Given the description of an element on the screen output the (x, y) to click on. 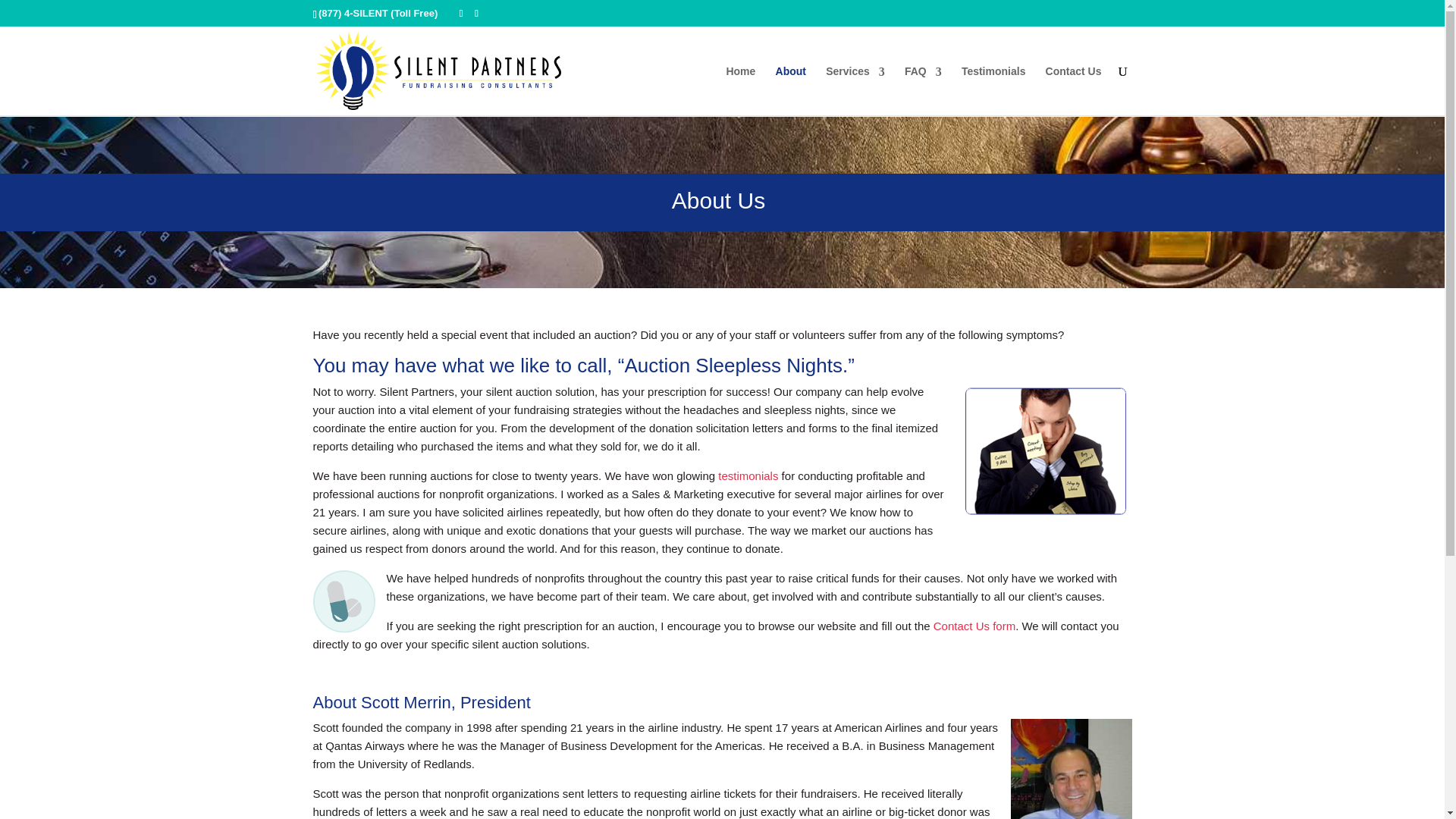
Contact Us (1073, 89)
Testimonials (993, 89)
Services (855, 90)
Contact Us (1073, 89)
Contact Us form (973, 625)
testimonials (747, 475)
Services (855, 90)
